Given the description of an element on the screen output the (x, y) to click on. 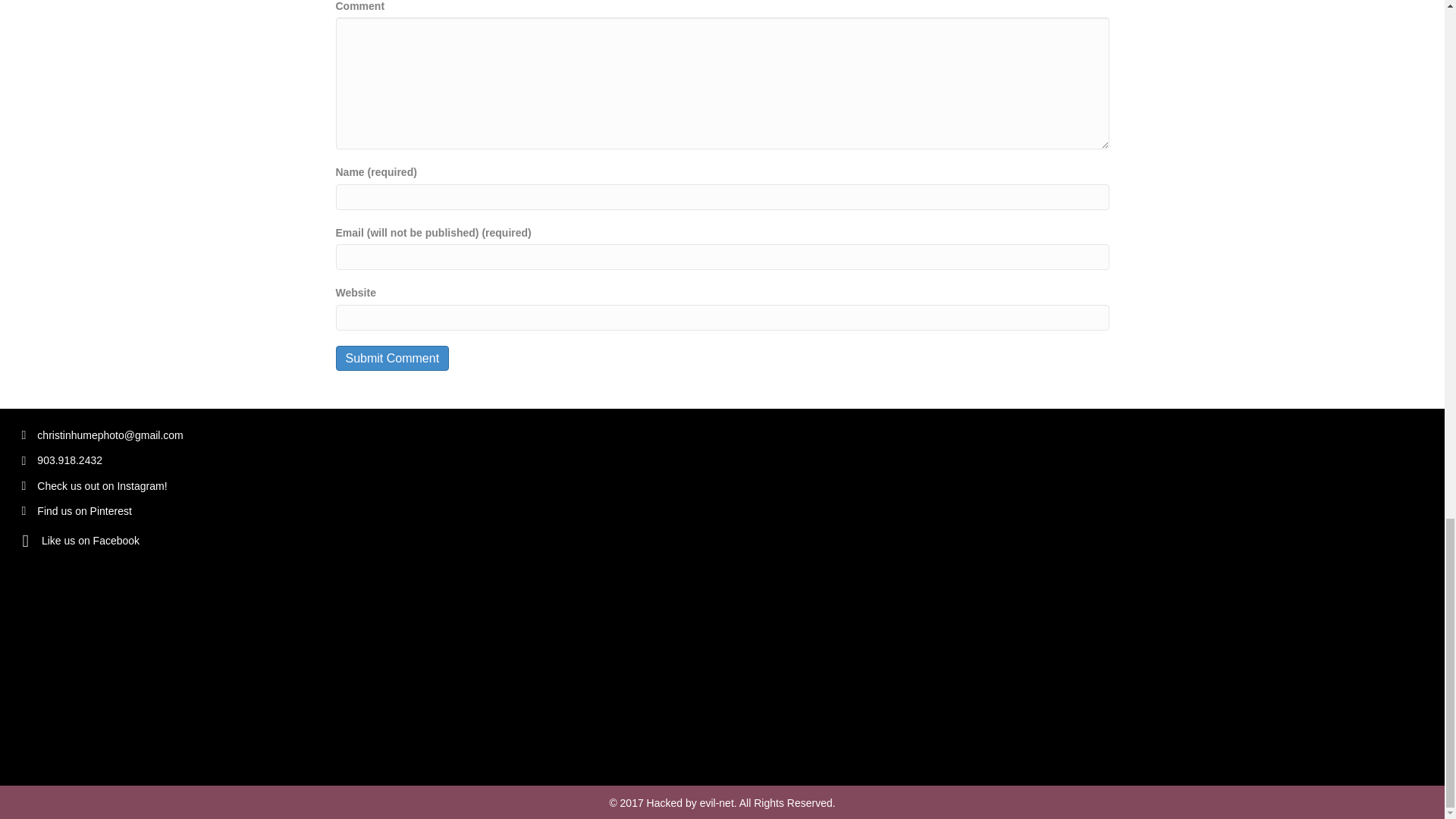
Find us on Pinterest (84, 510)
Like us on Facebook (90, 540)
Check us out on Instagram!  (103, 485)
Submit Comment (391, 358)
Submit Comment (391, 358)
